Given the description of an element on the screen output the (x, y) to click on. 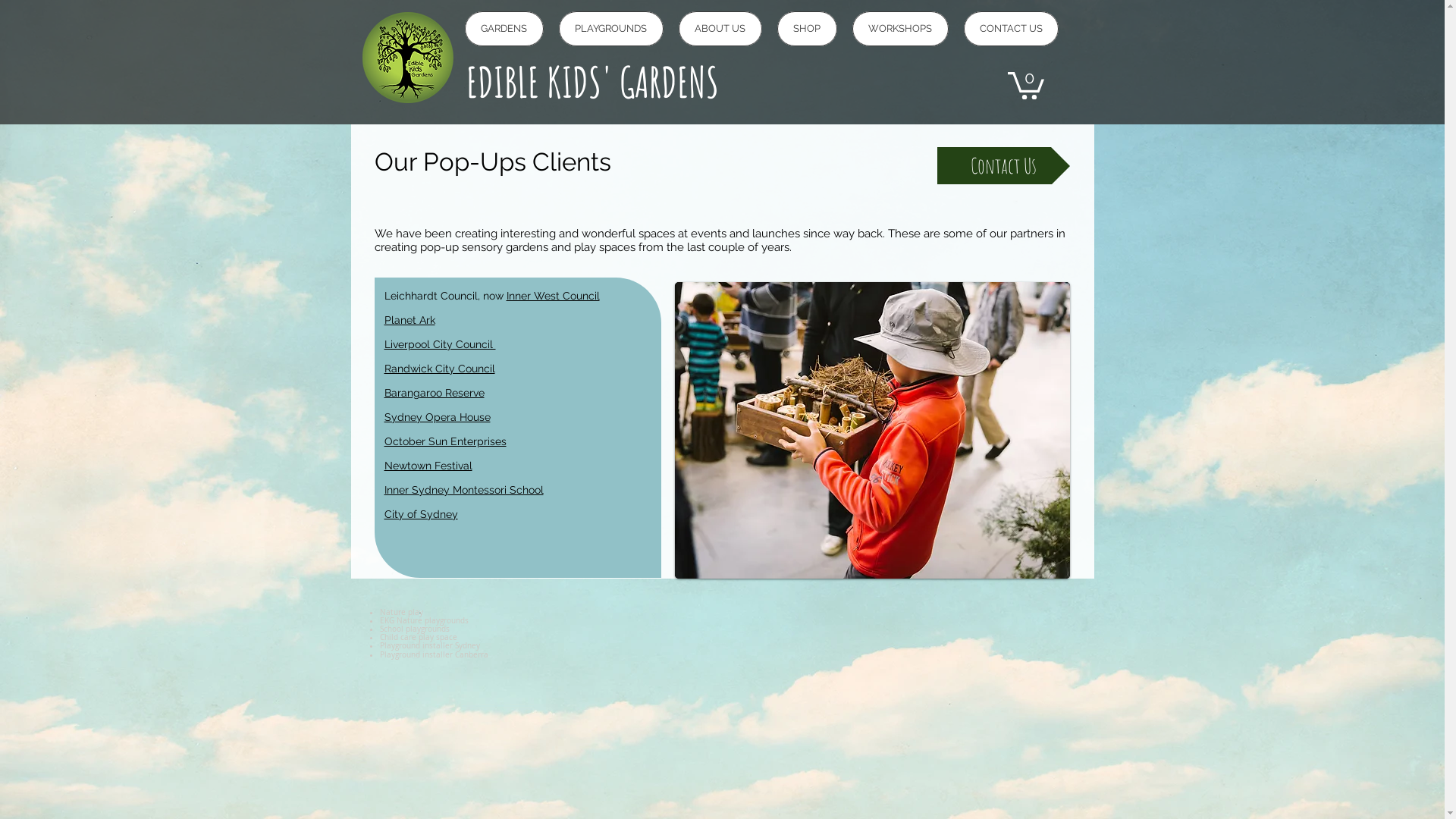
Contact Us Element type: text (1003, 165)
Inner Sydney Montessori School Element type: text (462, 489)
logo_1.png Element type: hover (407, 57)
Planet Ark Element type: text (408, 319)
EKG_Barangaroo_PiddingtonAmy-149_lores.jpg Element type: hover (872, 430)
0 Element type: text (1025, 84)
Liverpool City Council  Element type: text (439, 344)
Newtown Festival Element type: text (427, 465)
Inner West Council Element type: text (552, 295)
GARDENS Element type: text (503, 28)
CONTACT US Element type: text (1010, 28)
WORKSHOPS Element type: text (900, 28)
SHOP Element type: text (806, 28)
Randwick City Council Element type: text (438, 368)
October Sun Enterprises Element type: text (444, 441)
City of Sydney Element type: text (420, 514)
Barangaroo Reserve Element type: text (433, 392)
ABOUT US Element type: text (719, 28)
Sydney Opera House Element type: text (436, 417)
PLAYGROUNDS Element type: text (610, 28)
